Given the description of an element on the screen output the (x, y) to click on. 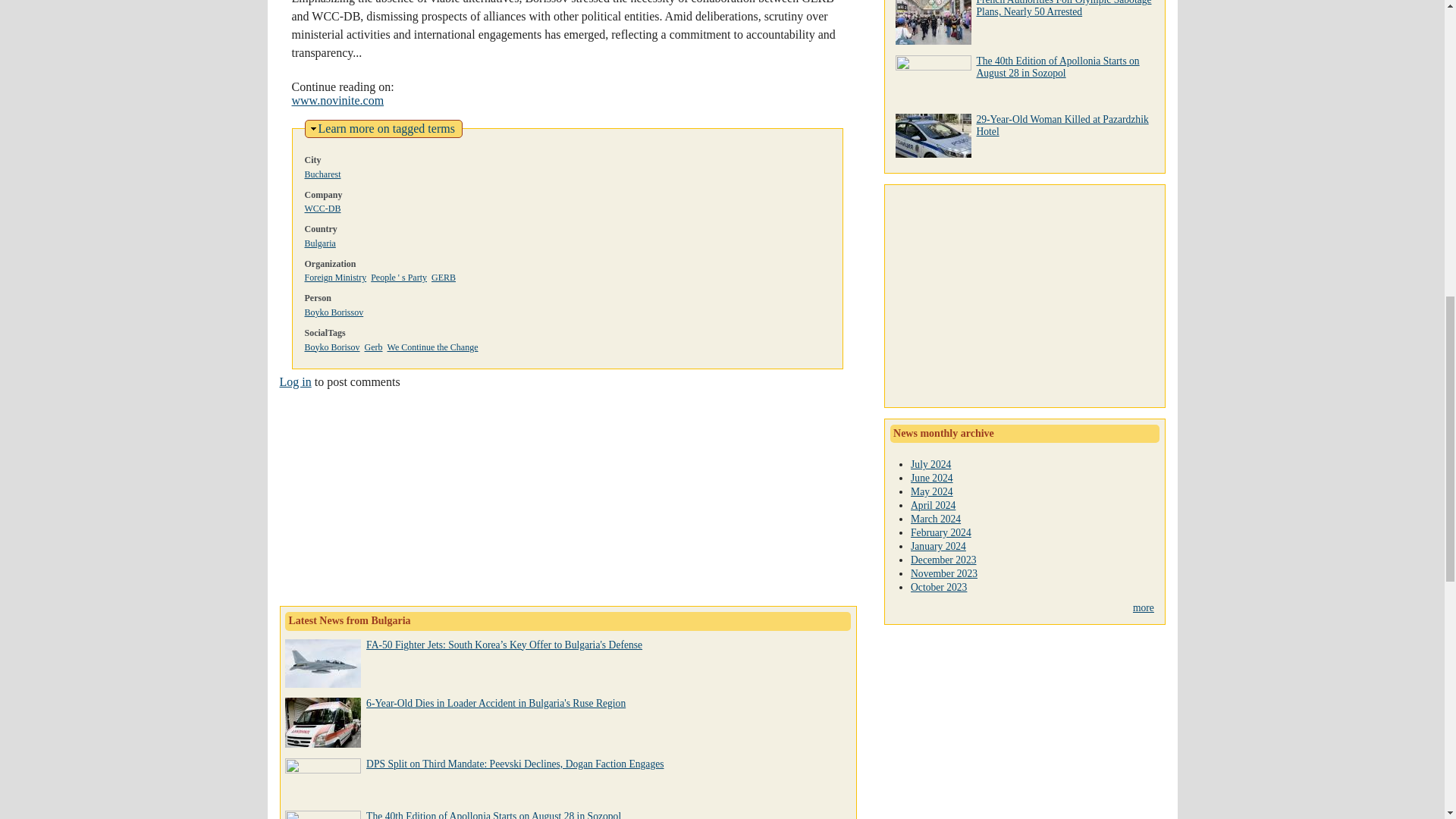
WCC-DB (322, 208)
Bulgaria (320, 243)
Foreign Ministry (335, 276)
We Continue the Change (433, 347)
People ' s Party (398, 276)
Boyko Borissov (334, 312)
Gerb (386, 128)
Log in (373, 347)
GERB (295, 381)
Bucharest (442, 276)
The 40th Edition of Apollonia Starts on August 28 in Sozopol (322, 173)
Boyko Borisov (493, 814)
6-Year-Old Dies in Loader Accident in Bulgaria's Ruse Region (331, 347)
